Given the description of an element on the screen output the (x, y) to click on. 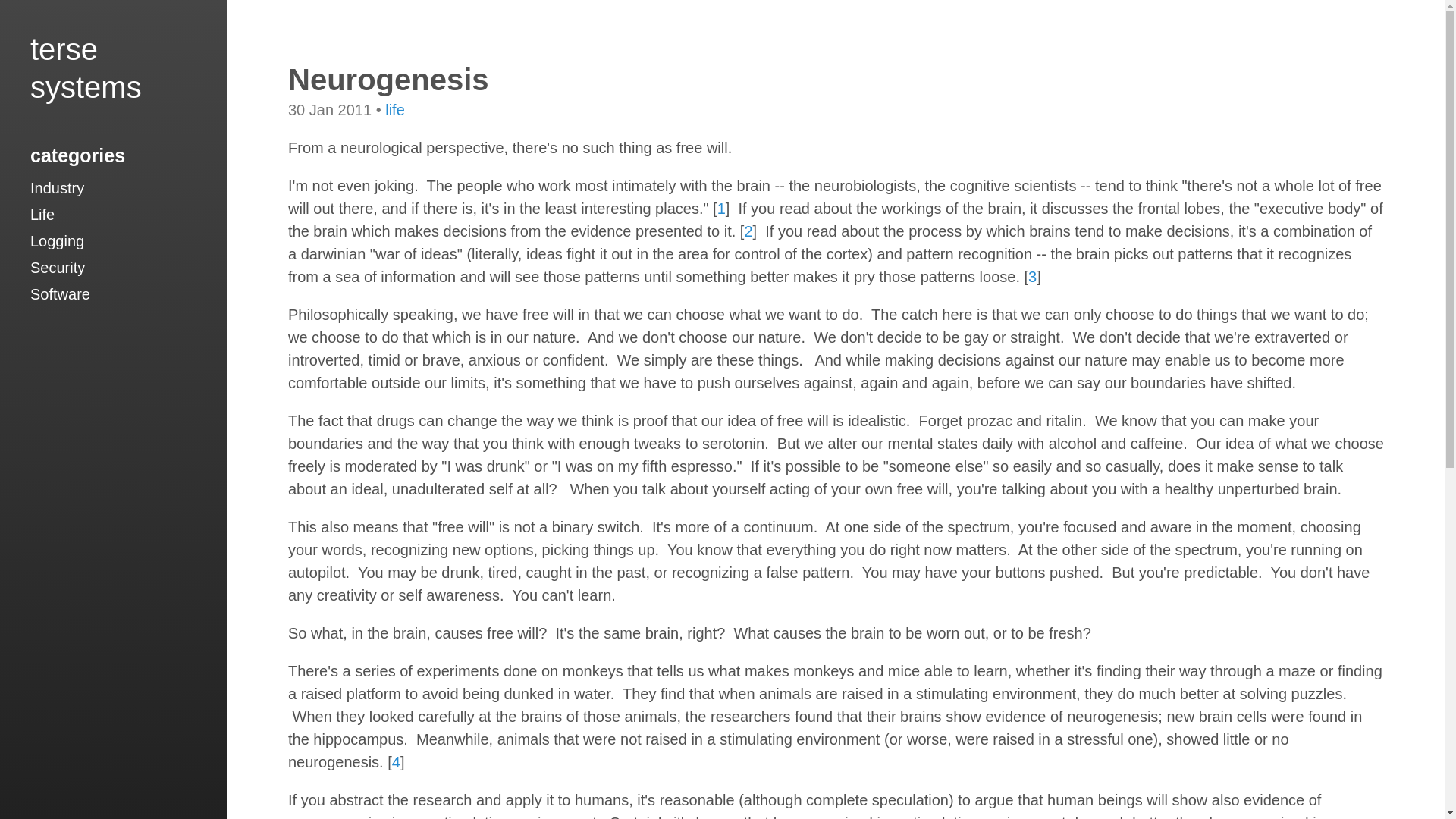
Logging (57, 240)
life (394, 109)
Software (60, 293)
terse systems (85, 68)
Industry (57, 187)
Security (57, 267)
Life (42, 214)
